Given the description of an element on the screen output the (x, y) to click on. 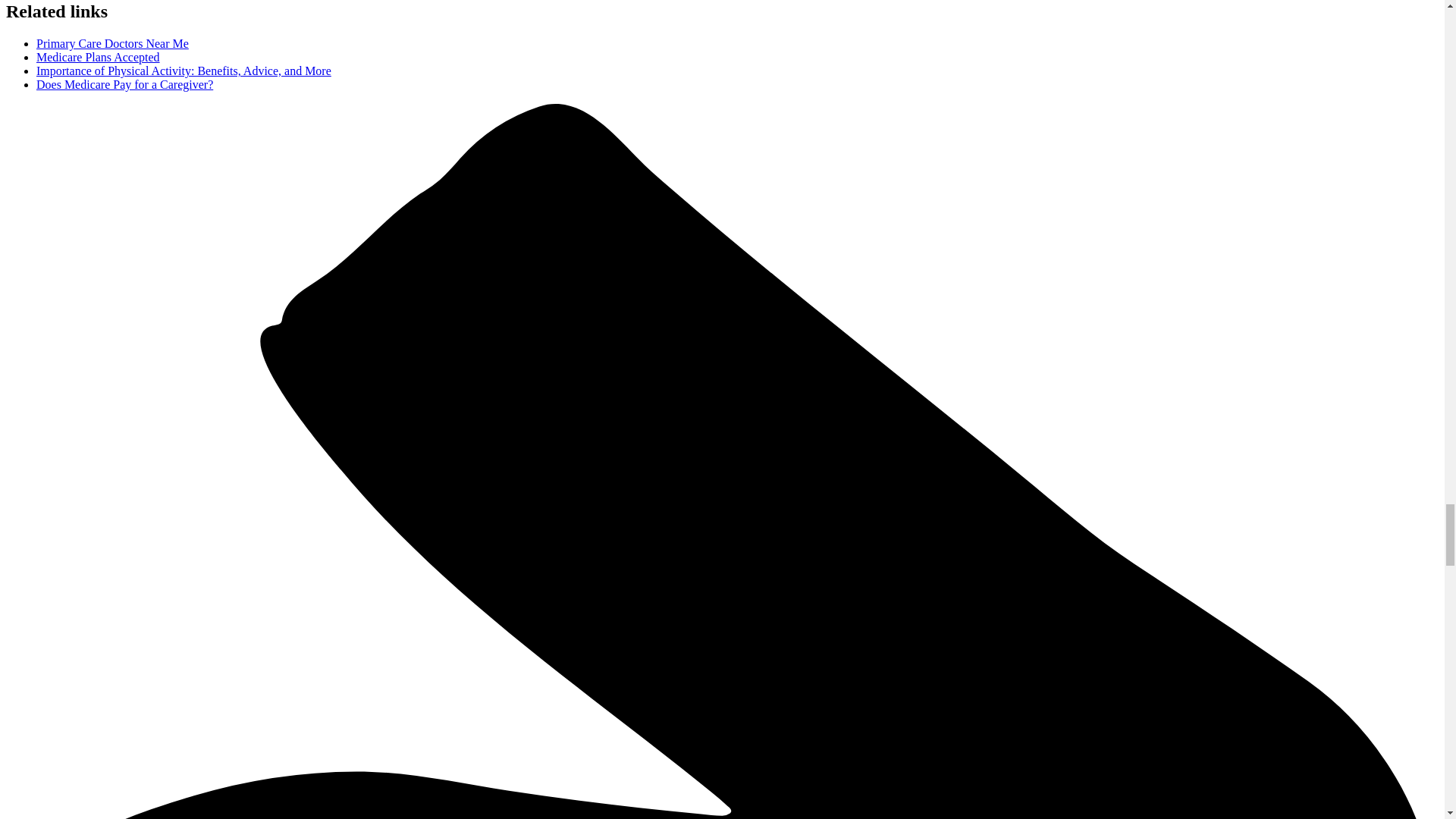
Primary Care Doctors Near Me (112, 42)
Medicare Plans Accepted (98, 56)
Importance of Physical Activity: Benefits, Advice, and More (183, 70)
Does Medicare Pay for a Caregiver? (124, 83)
